Given the description of an element on the screen output the (x, y) to click on. 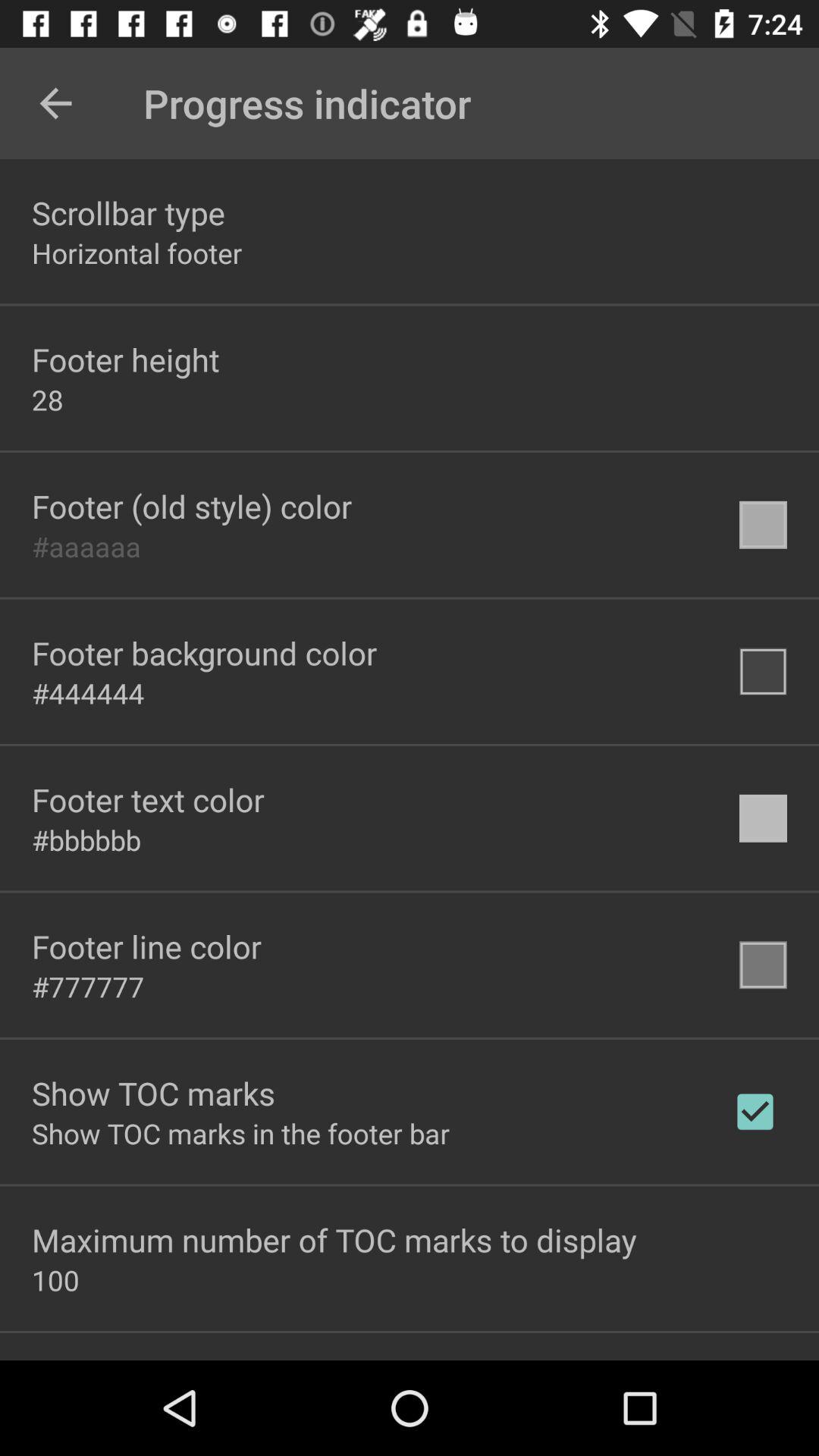
go to previous page (55, 103)
